Given the description of an element on the screen output the (x, y) to click on. 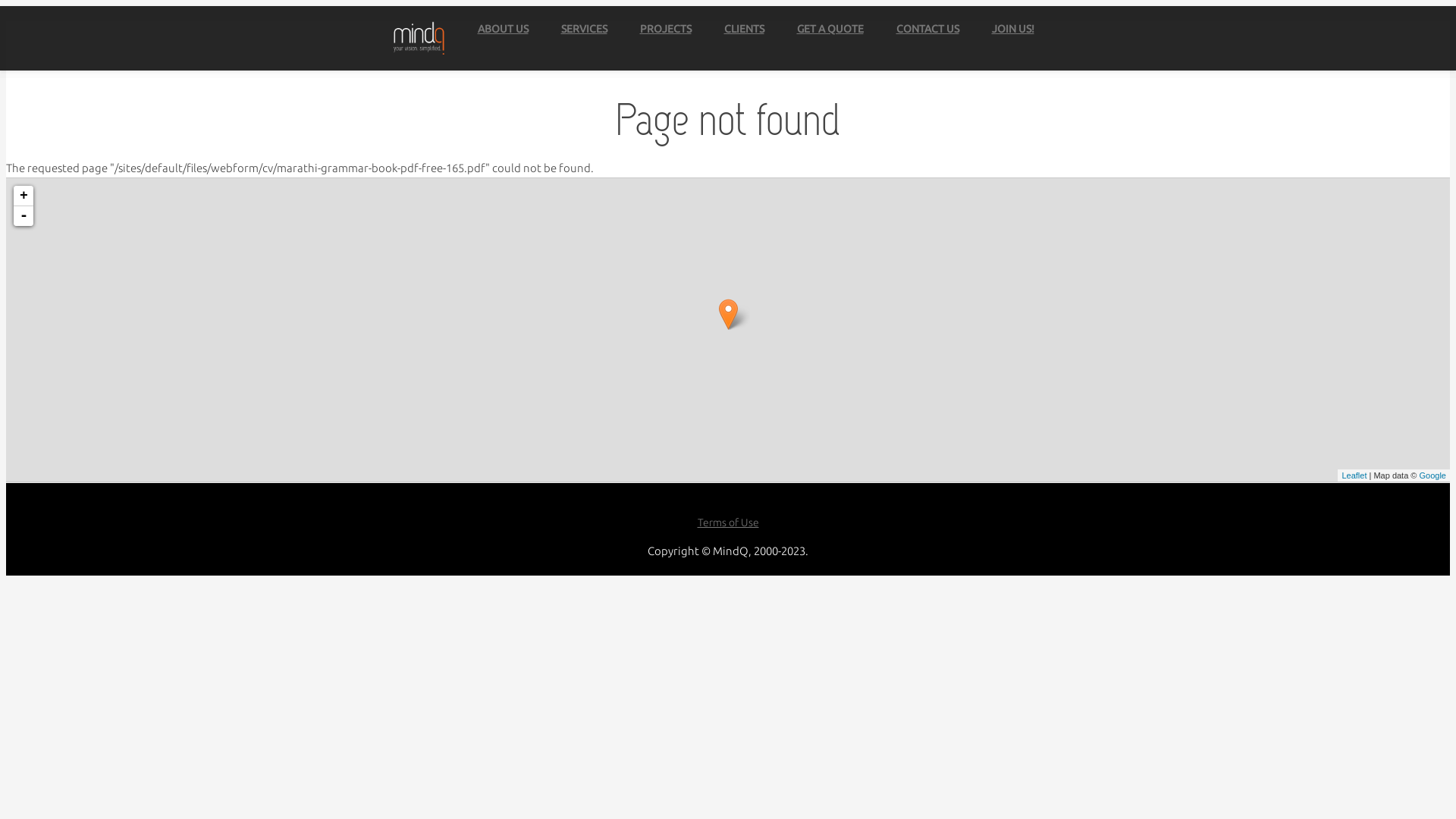
SERVICES Element type: text (584, 29)
- Element type: text (23, 215)
+ Element type: text (23, 195)
Skip to main content Element type: text (59, 6)
Terms of Use Element type: text (728, 528)
PROJECTS Element type: text (665, 29)
Google Element type: text (1432, 474)
Leaflet Element type: text (1353, 474)
Home Element type: hover (417, 41)
CLIENTS Element type: text (743, 29)
JOIN US! Element type: text (1012, 29)
MindQ Office in Gaborone Element type: hover (727, 313)
ABOUT US Element type: text (502, 29)
GET A QUOTE Element type: text (829, 29)
CONTACT US Element type: text (927, 29)
